Given the description of an element on the screen output the (x, y) to click on. 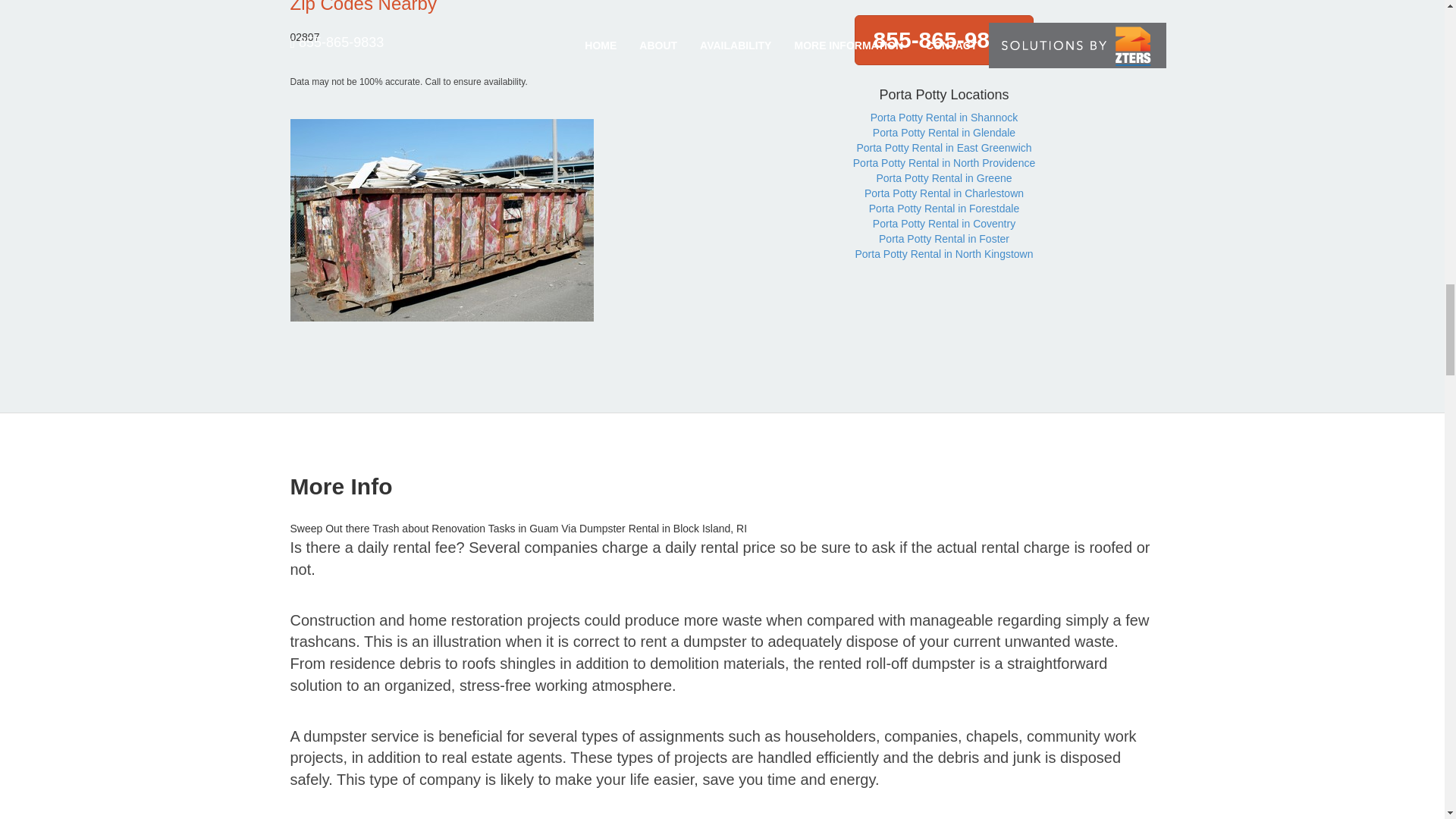
Porta Potty Rental in North Kingstown (943, 254)
Porta Potty Rental in Shannock (943, 117)
855-865-9833 (943, 40)
Porta Potty Rental in Forestdale (944, 208)
Porta Potty Rental in Charlestown (943, 193)
Porta Potty Rental in Glendale (943, 132)
Porta Potty Rental in Greene (943, 177)
Porta Potty Rental in East Greenwich (943, 147)
Porta Potty Rental in Foster (944, 238)
Porta Potty Rental in Coventry (943, 223)
